Given the description of an element on the screen output the (x, y) to click on. 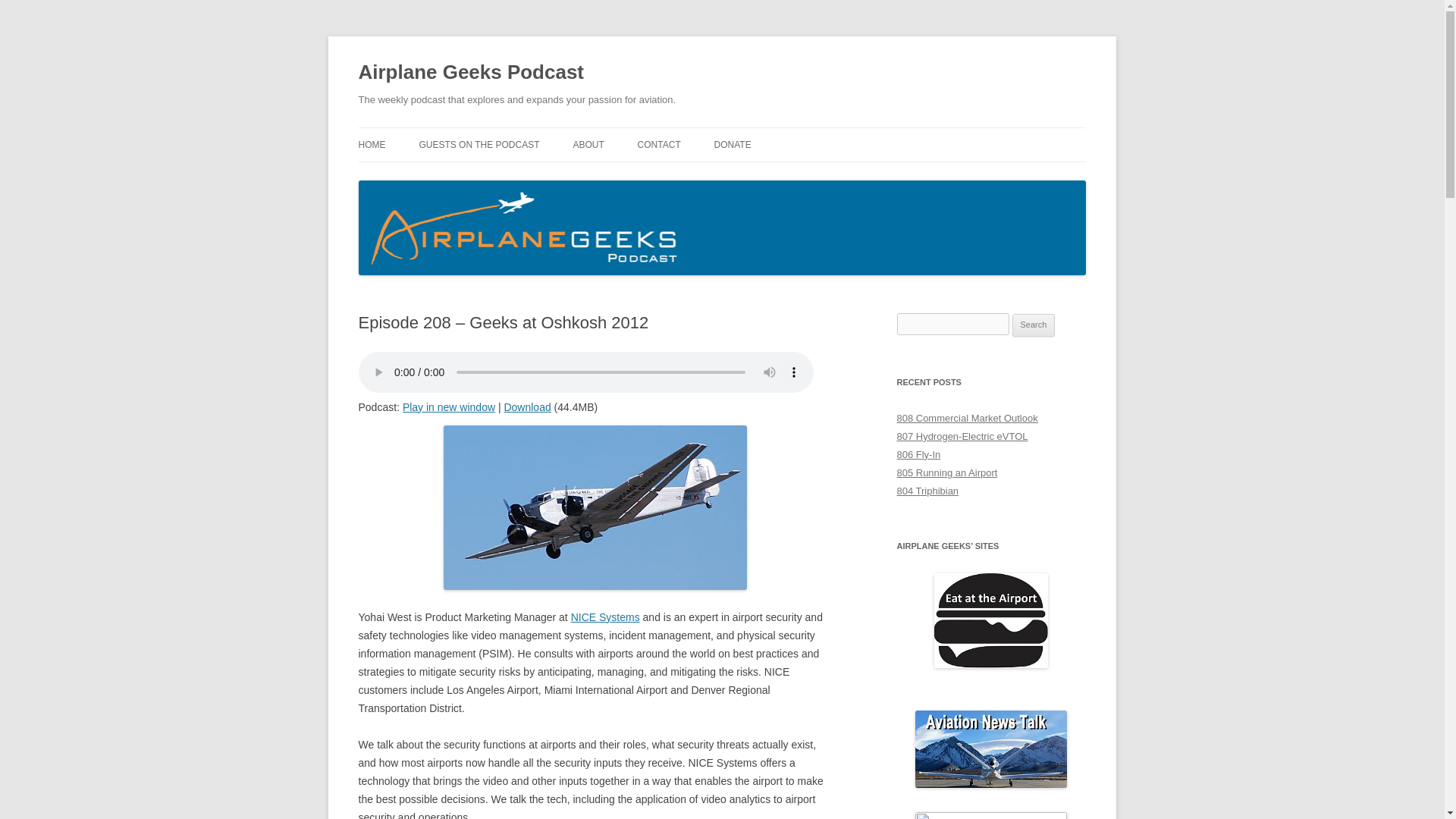
Play in new window (449, 407)
Download (526, 407)
Rimowa Luggage Ju-52 (595, 507)
GUESTS ON THE PODCAST (478, 144)
Download (526, 407)
DONATE (732, 144)
NICE Systems (605, 616)
Airplane Geeks Podcast (470, 72)
ABOUT (588, 144)
How to contact the Airplane Geeks (659, 144)
Play in new window (449, 407)
CONTACT (659, 144)
